Given the description of an element on the screen output the (x, y) to click on. 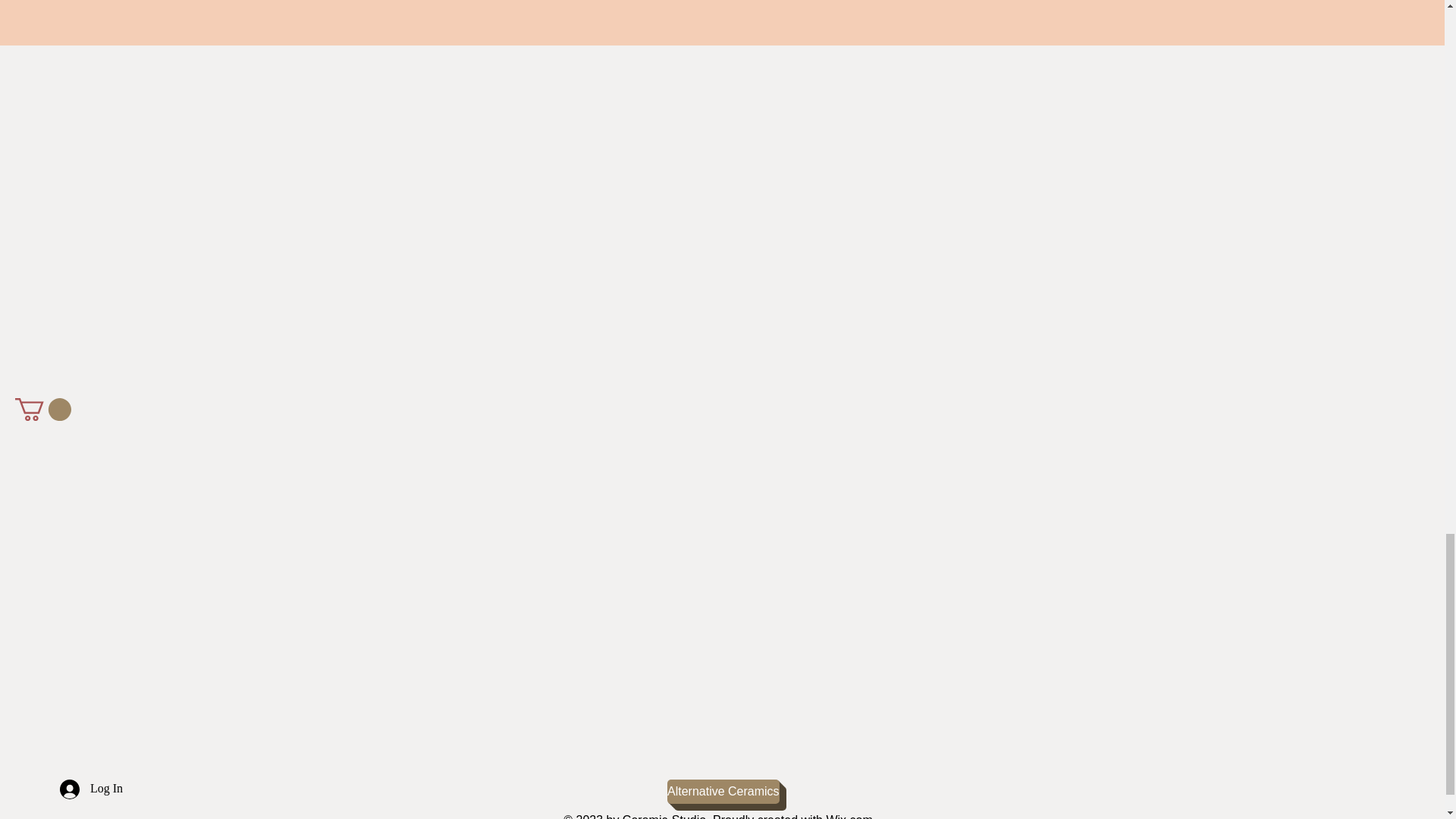
Wix.com (848, 816)
